Given the description of an element on the screen output the (x, y) to click on. 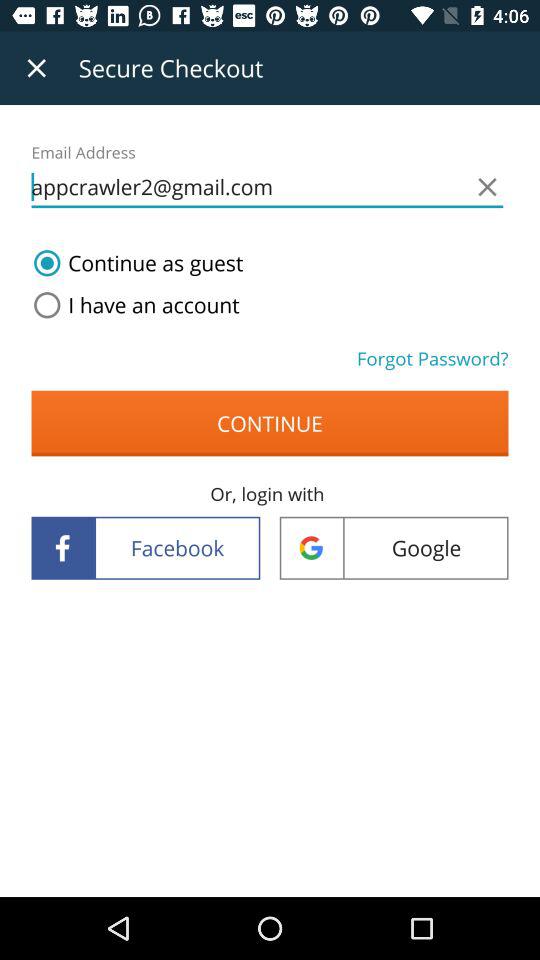
press forgot password? icon (432, 358)
